Given the description of an element on the screen output the (x, y) to click on. 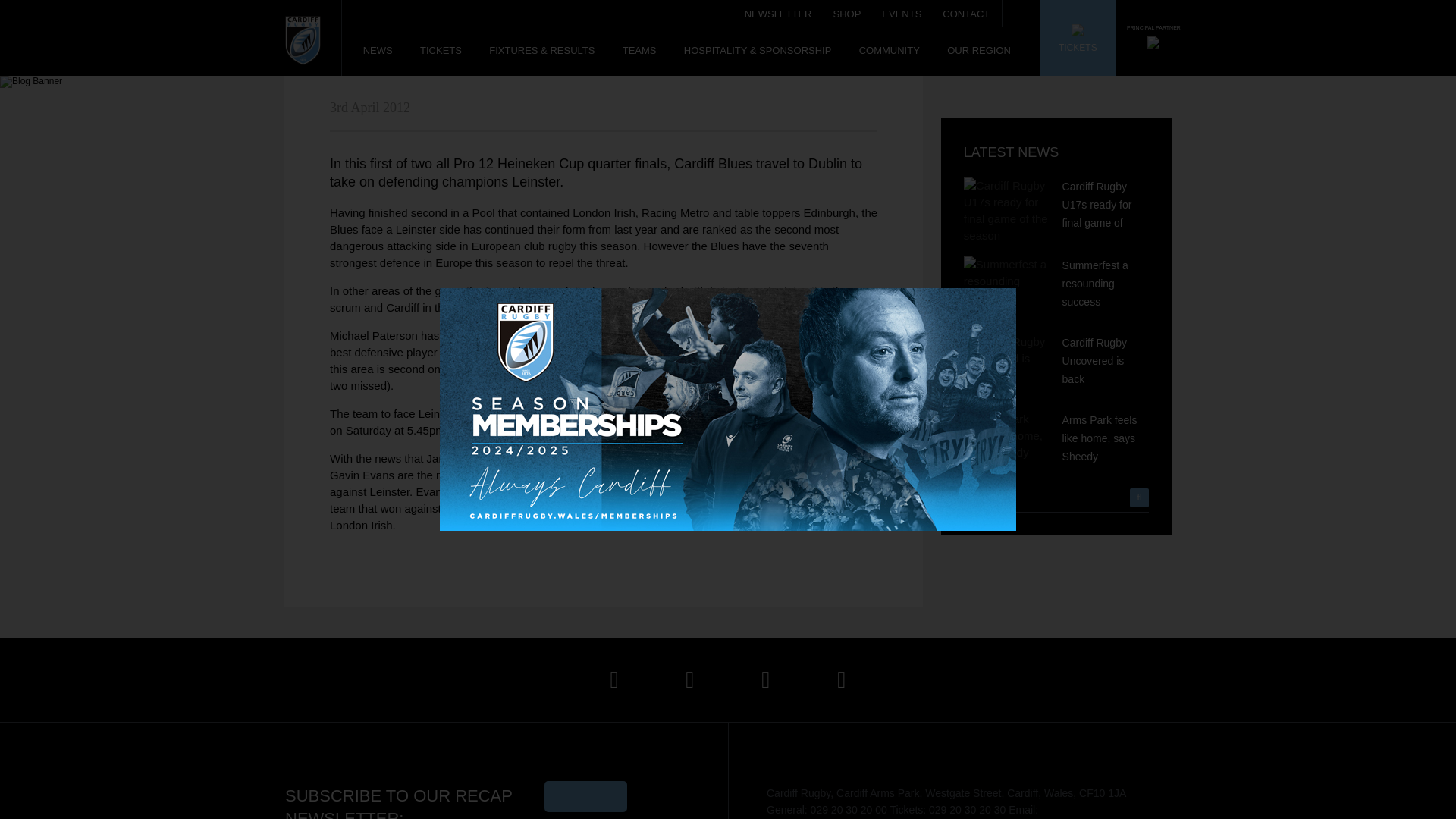
SHOP (846, 9)
NEWSLETTER (778, 9)
EVENTS (901, 9)
CONTACT (966, 9)
